Given the description of an element on the screen output the (x, y) to click on. 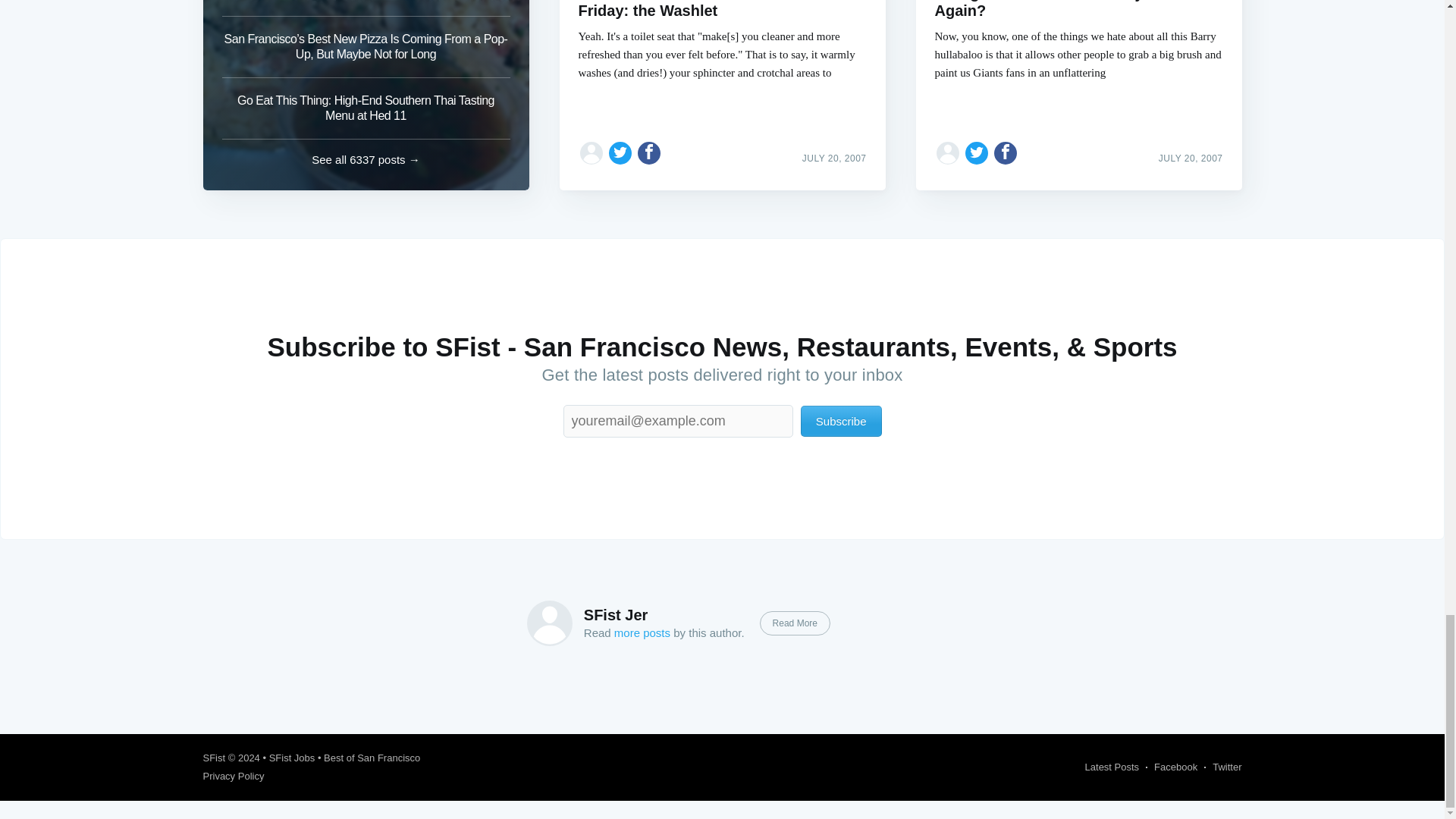
Share on Facebook (649, 153)
Share on Twitter (976, 153)
Share on Twitter (620, 153)
Share on Facebook (1004, 153)
